Given the description of an element on the screen output the (x, y) to click on. 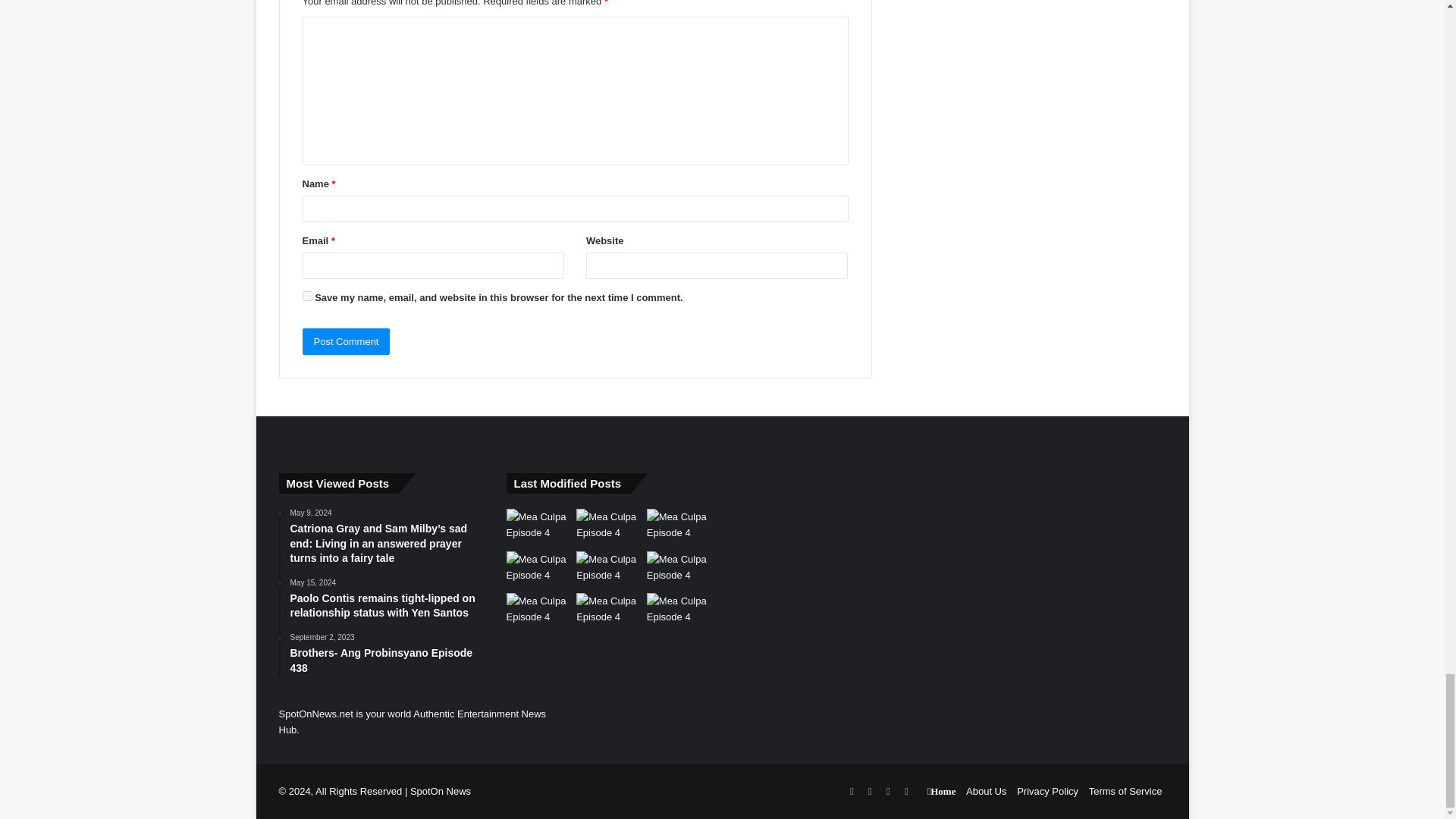
yes (306, 296)
Post Comment (345, 341)
